Given the description of an element on the screen output the (x, y) to click on. 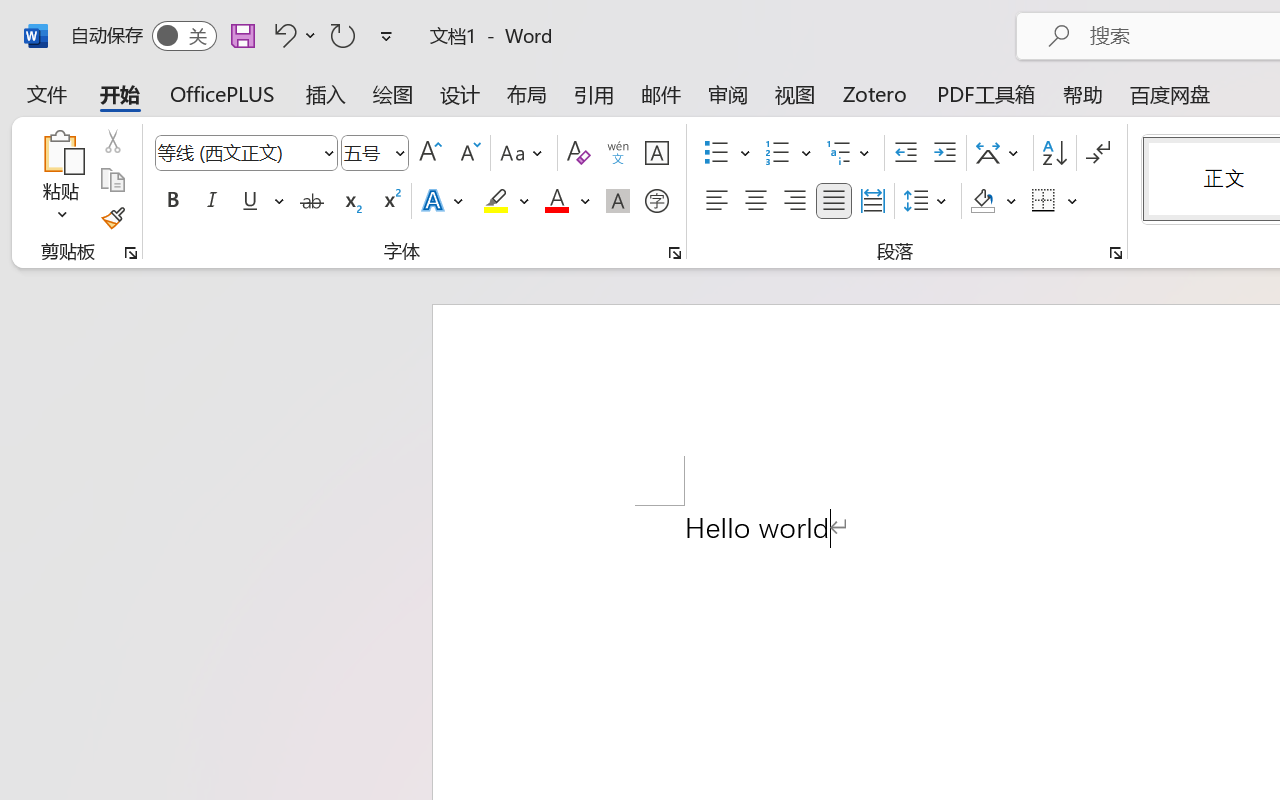
Zotero (875, 94)
